Given the description of an element on the screen output the (x, y) to click on. 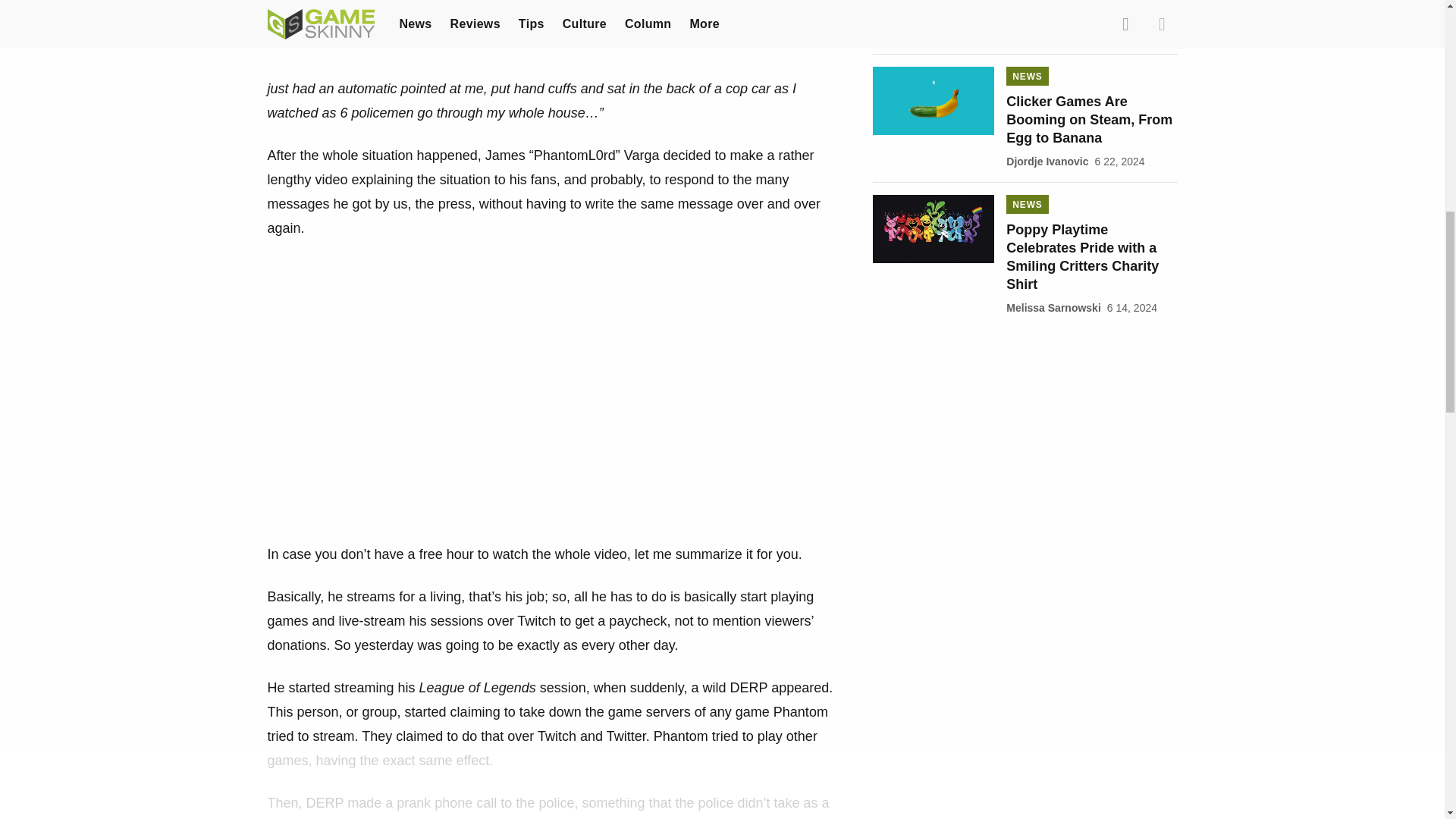
3rd party ad content (1024, 422)
